Given the description of an element on the screen output the (x, y) to click on. 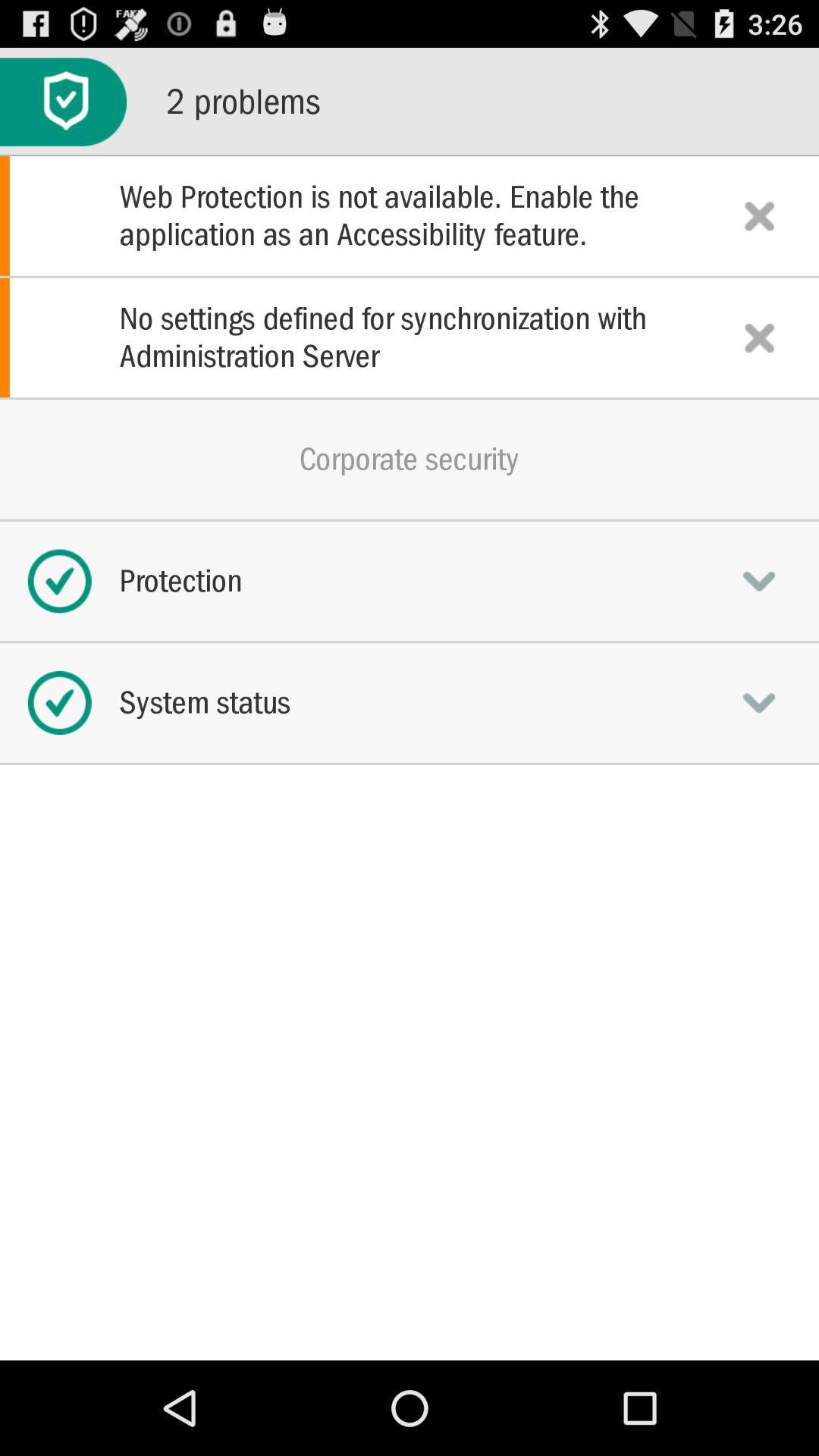
expand informatuion button (759, 580)
